Given the description of an element on the screen output the (x, y) to click on. 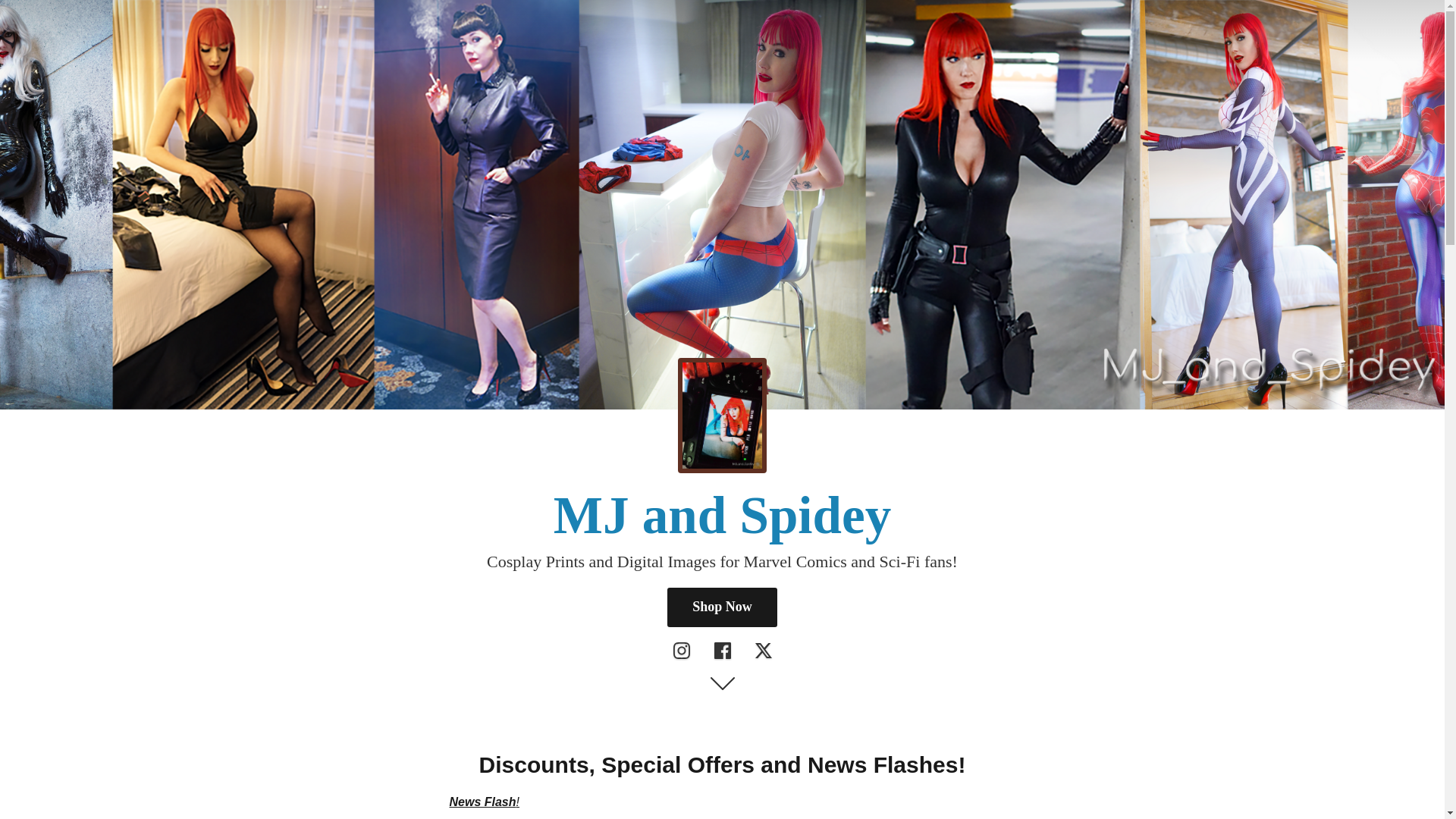
Shop Now (721, 607)
